Given the description of an element on the screen output the (x, y) to click on. 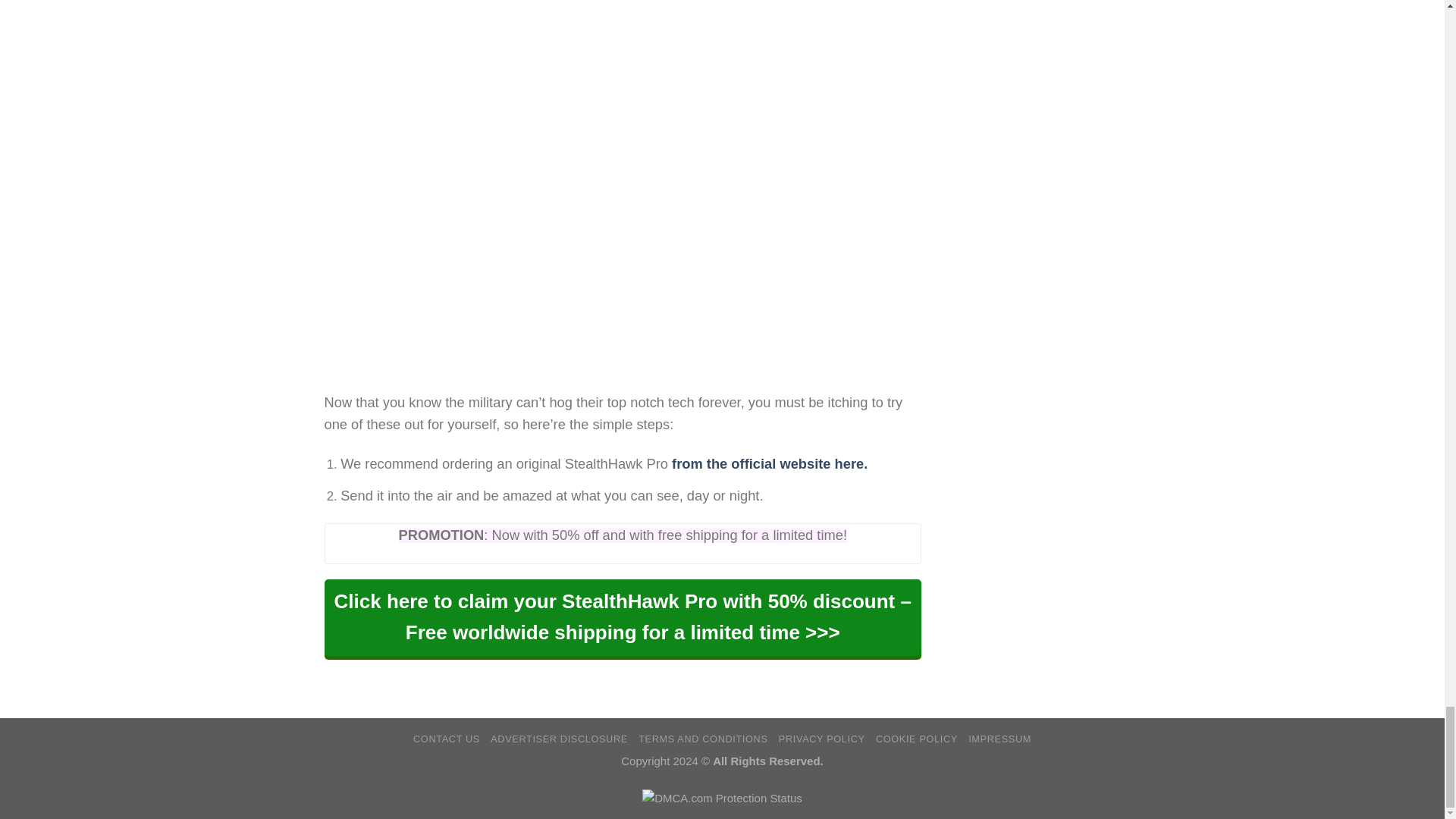
IMPRESSUM (999, 738)
COOKIE POLICY (917, 738)
ADVERTISER DISCLOSURE (558, 738)
DMCA.com Protection Status (722, 797)
from the official website here. (769, 463)
PRIVACY POLICY (821, 738)
CONTACT US (446, 738)
TERMS AND CONDITIONS (703, 738)
